Given the description of an element on the screen output the (x, y) to click on. 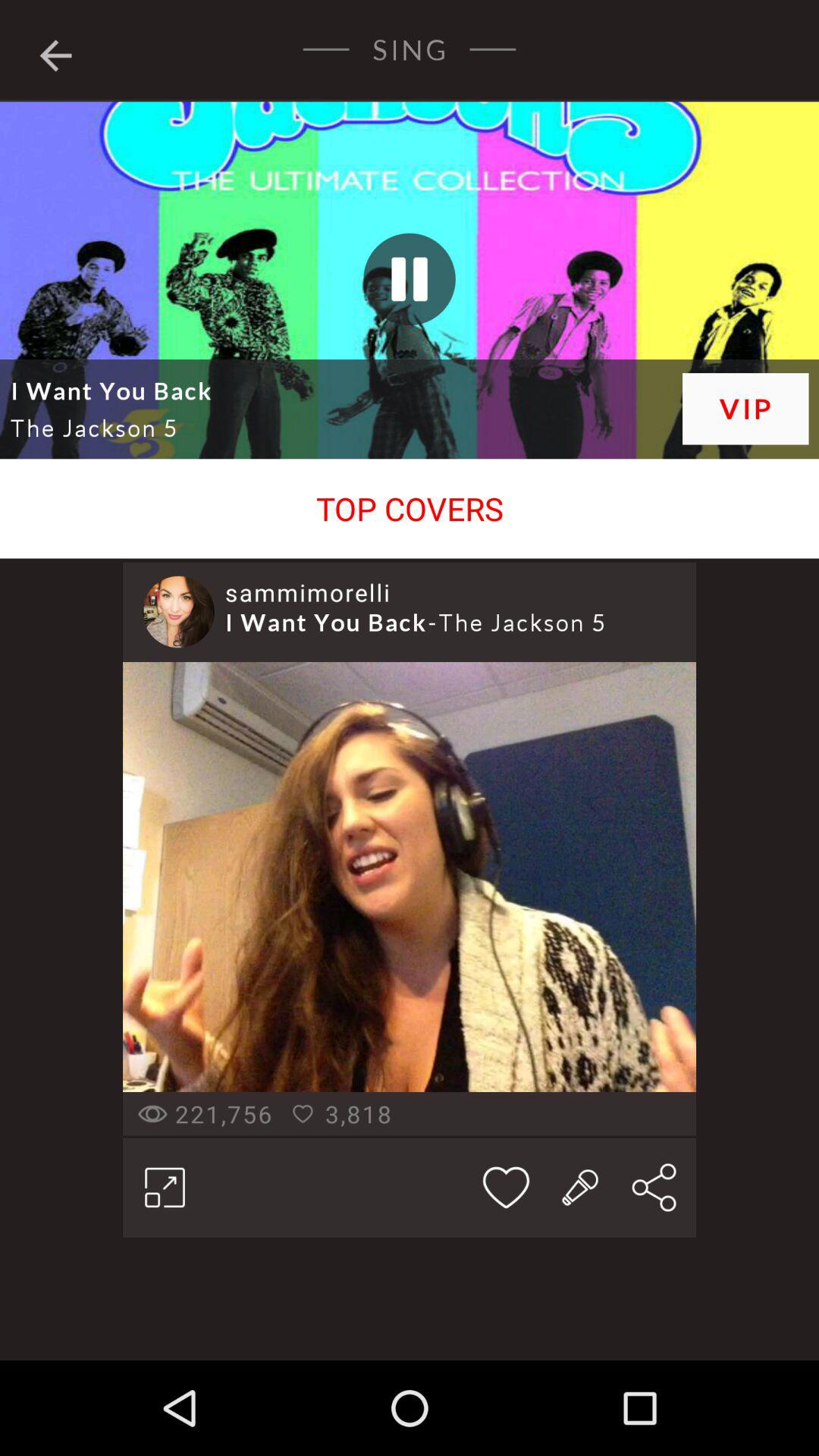
click icon next to the sammimorelli icon (178, 611)
